Given the description of an element on the screen output the (x, y) to click on. 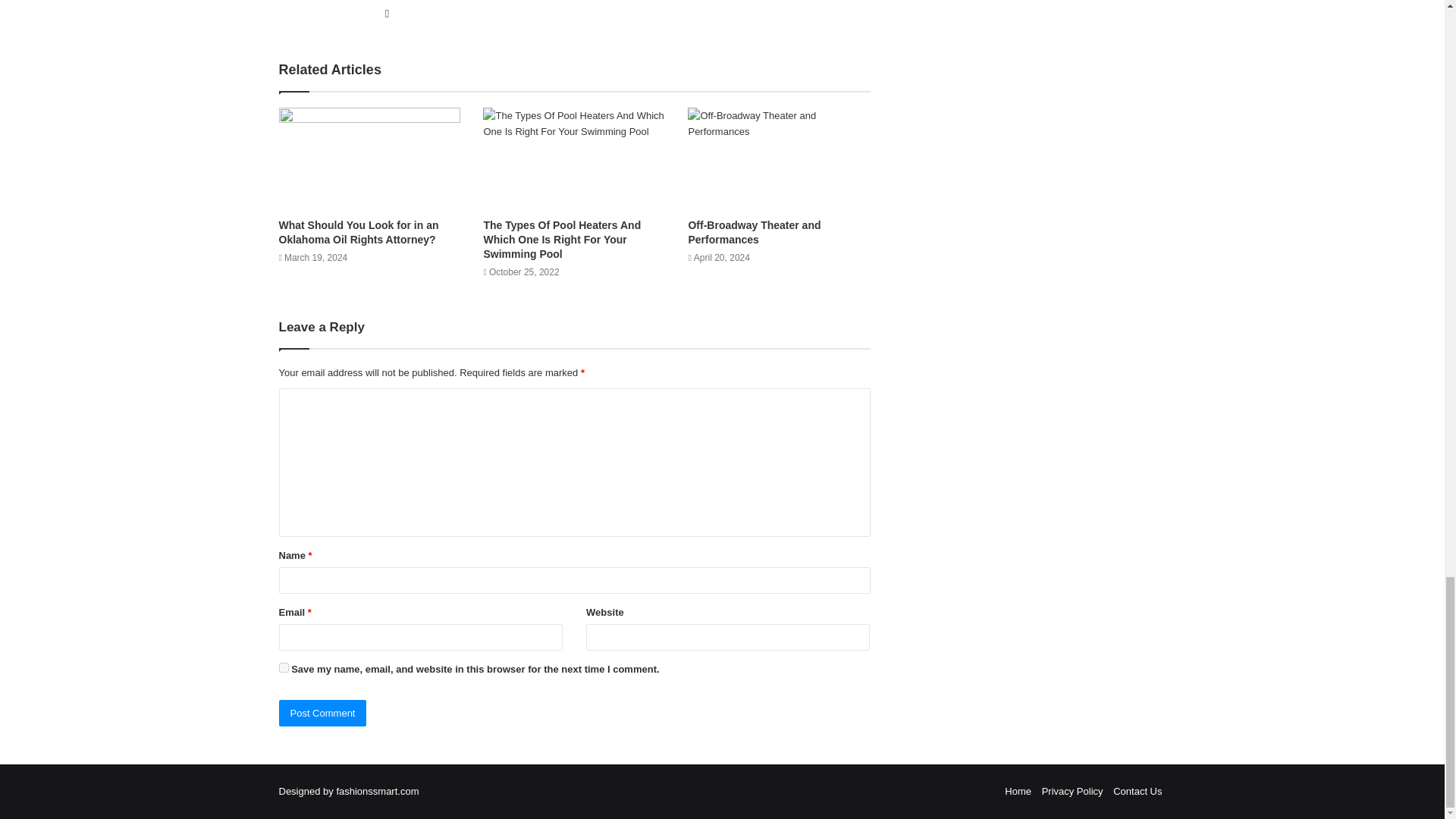
yes (283, 667)
What Should You Look for in an Oklahoma Oil Rights Attorney? (359, 232)
Post Comment (322, 713)
Website (386, 13)
